Given the description of an element on the screen output the (x, y) to click on. 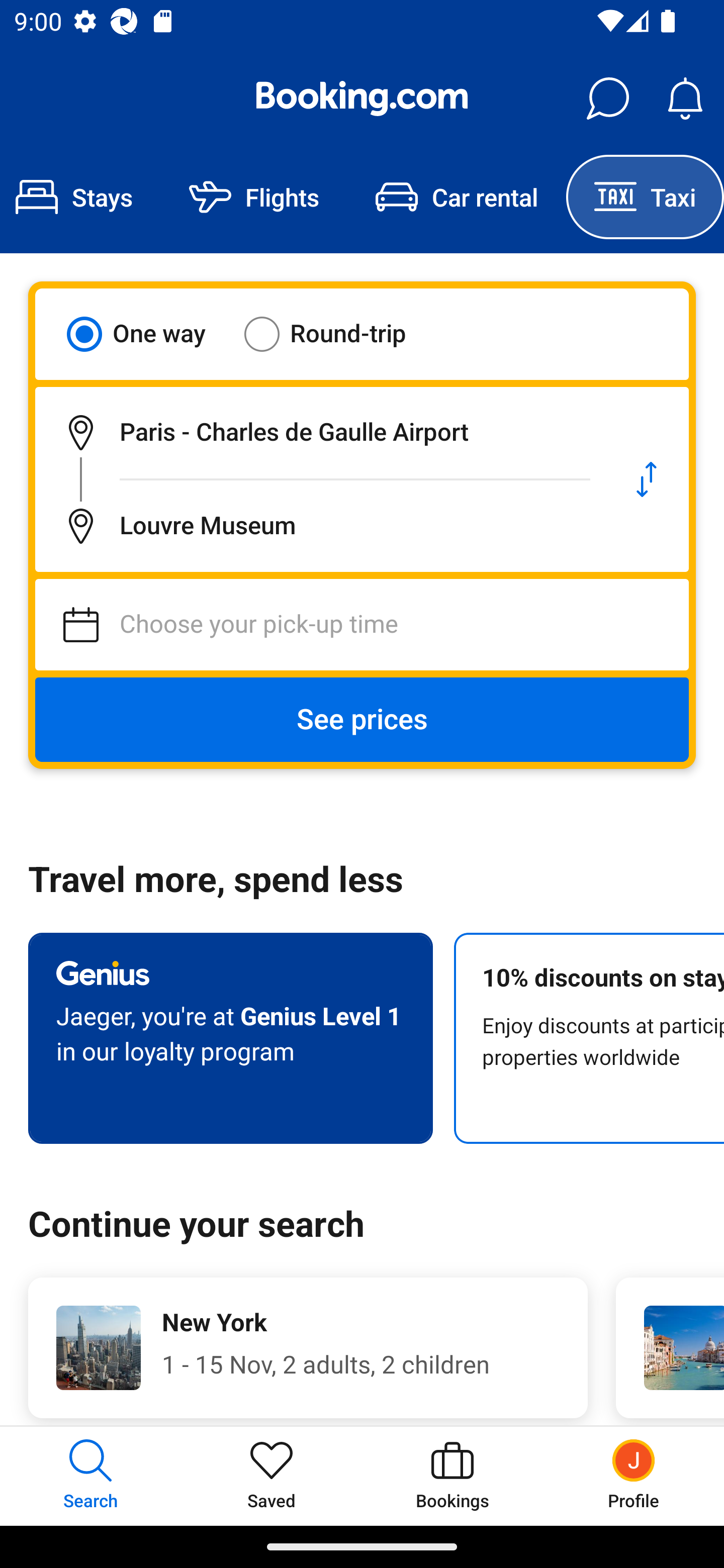
Messages (607, 98)
Notifications (685, 98)
Stays (80, 197)
Flights (253, 197)
Car rental (456, 197)
Taxi (645, 197)
Round-trip (337, 333)
Swap pick-up location and destination (646, 479)
Destination: Louvre Museum (319, 525)
Choose your pick-up time (361, 624)
See prices (361, 719)
New York 1 - 15 Nov, 2 adults, 2 children (307, 1347)
Saved (271, 1475)
Bookings (452, 1475)
Profile (633, 1475)
